Given the description of an element on the screen output the (x, y) to click on. 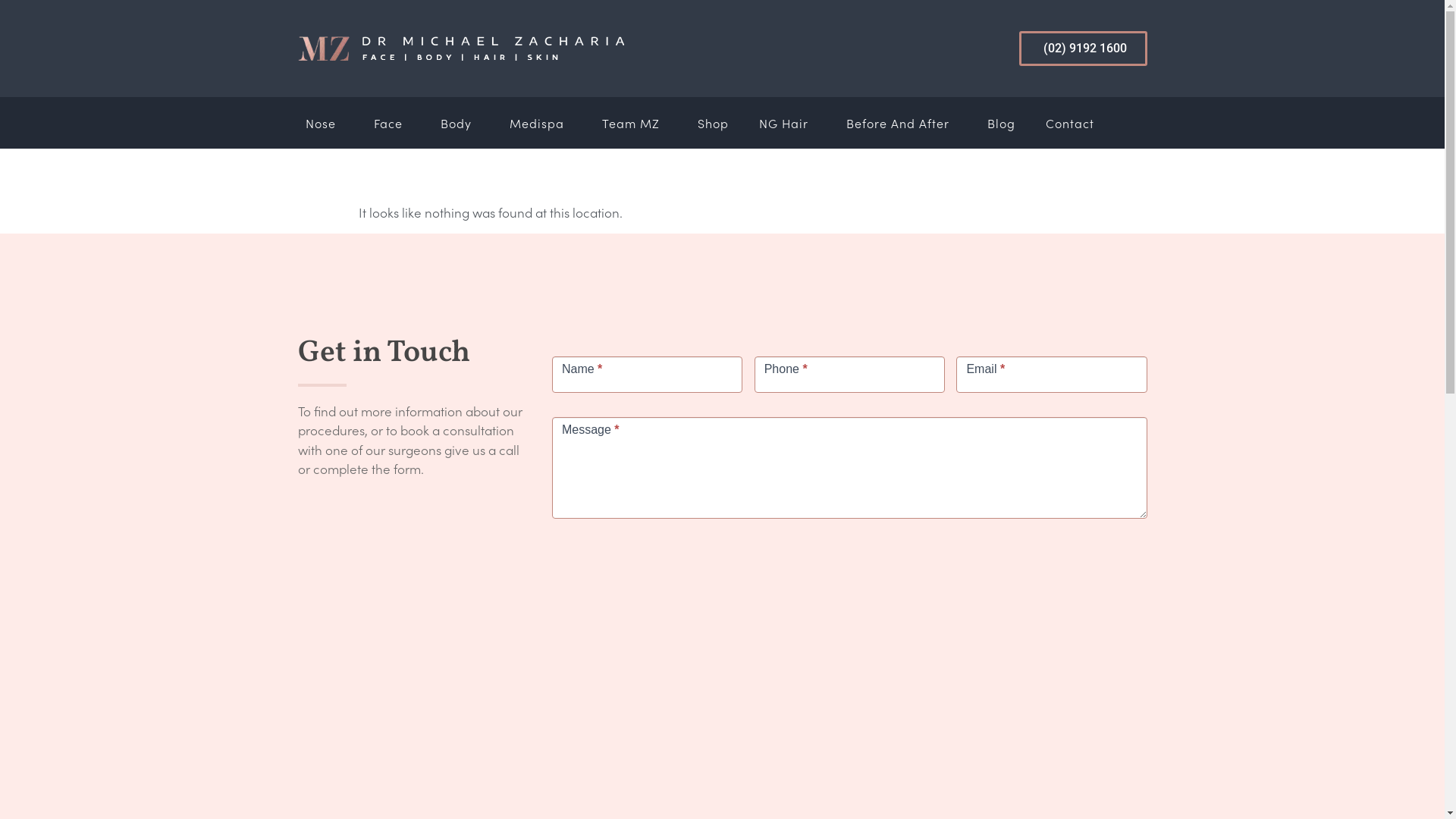
Body Element type: text (458, 122)
Face Element type: text (390, 122)
Blog Element type: text (1001, 122)
Contact Element type: text (1068, 122)
Before And After Element type: text (901, 122)
(02) 9192 1600 Element type: text (1083, 48)
NG Hair Element type: text (786, 122)
Medispa Element type: text (540, 122)
Shop Element type: text (712, 122)
Team MZ Element type: text (634, 122)
Nose Element type: text (323, 122)
